Given the description of an element on the screen output the (x, y) to click on. 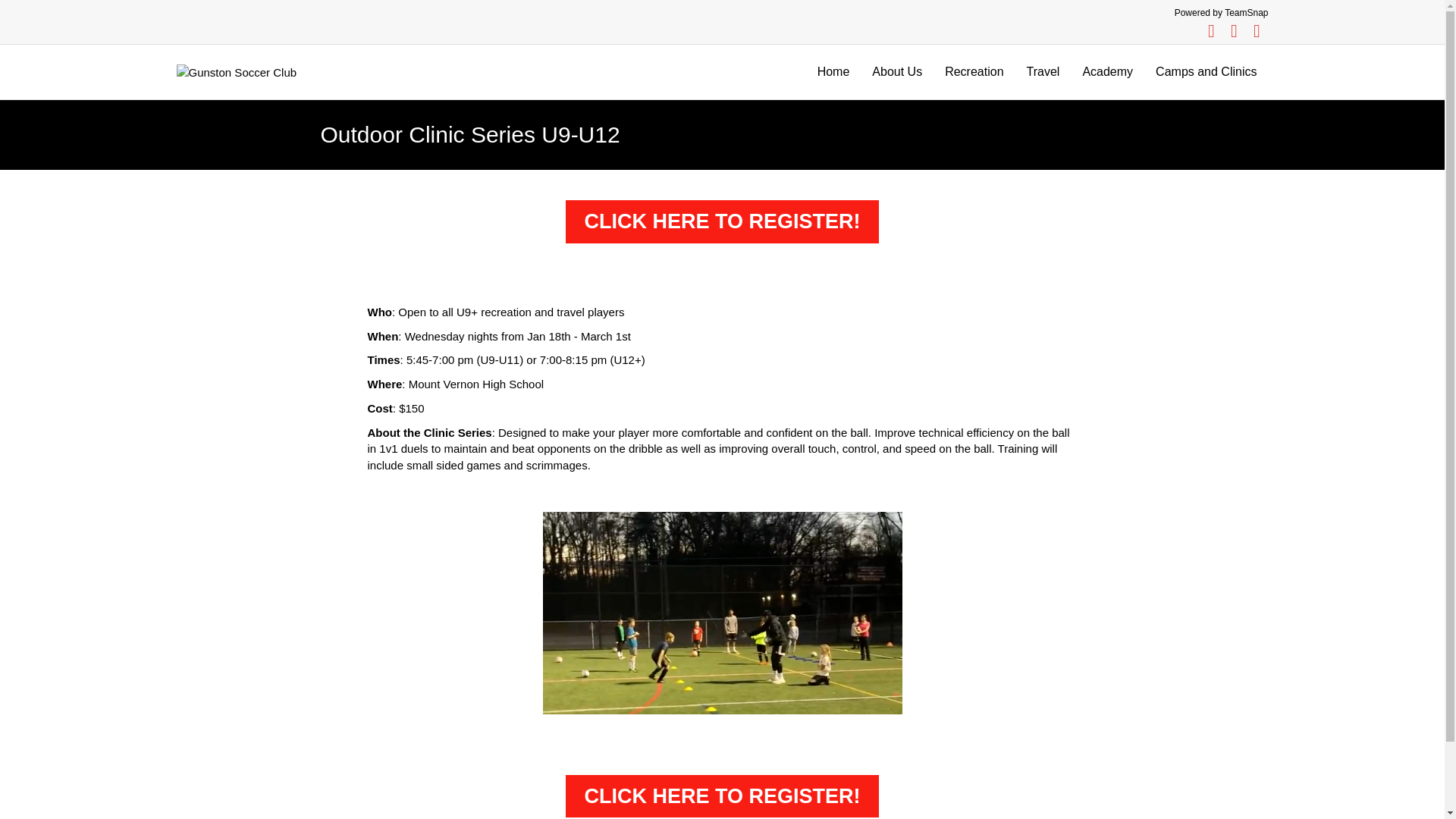
Twitter (1233, 31)
Instagram (1256, 31)
Facebook (1211, 31)
Screen Shot 2022-10-25 at 3.26.17 PM (722, 612)
